Given the description of an element on the screen output the (x, y) to click on. 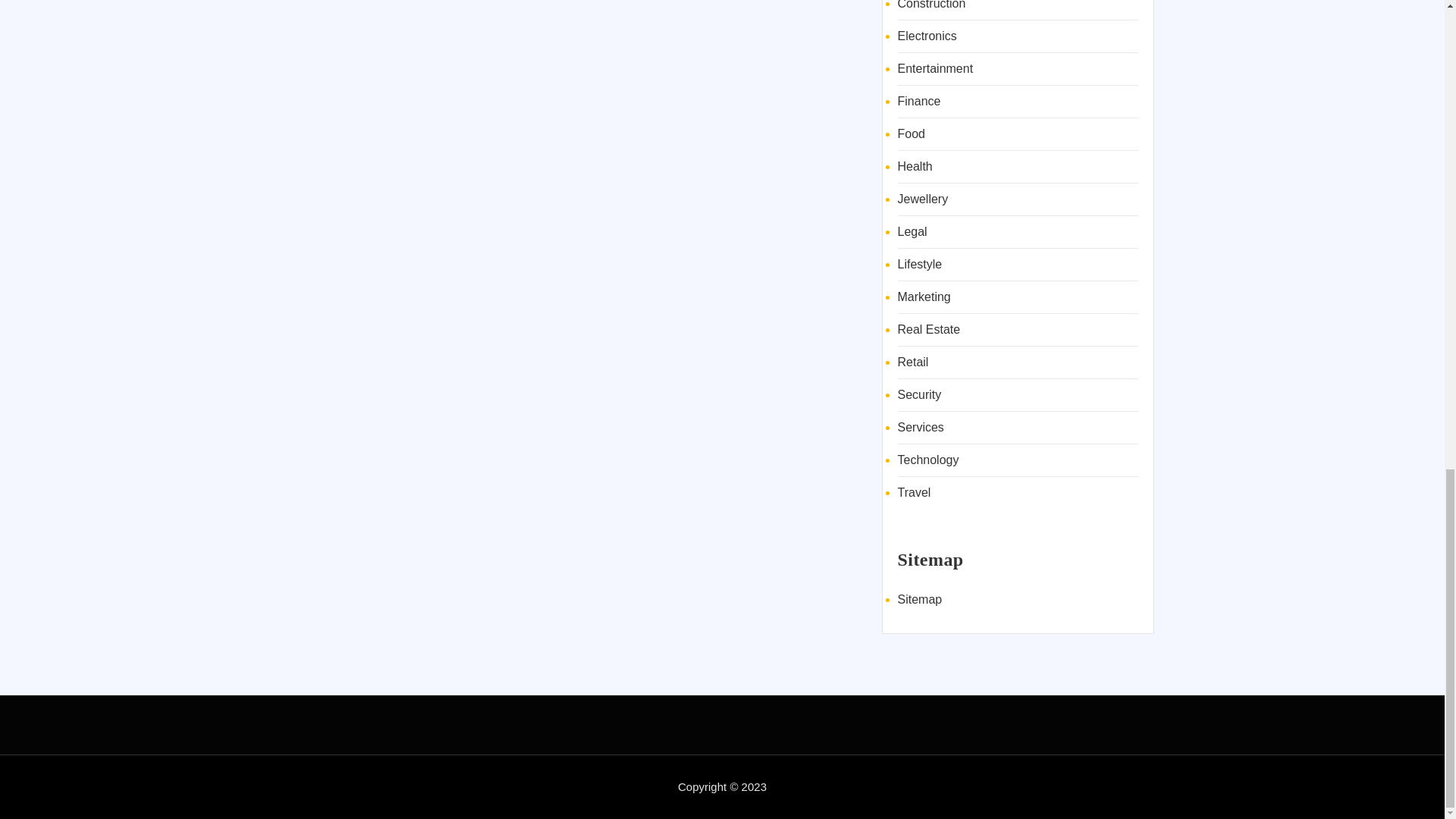
Jewellery (923, 198)
Retail (913, 361)
Food (911, 133)
Security (920, 394)
Entertainment (936, 68)
Legal (912, 231)
Health (915, 165)
Real Estate (929, 328)
Marketing (924, 296)
Electronics (927, 35)
Finance (919, 101)
Lifestyle (920, 264)
Construction (932, 4)
Services (920, 427)
